Given the description of an element on the screen output the (x, y) to click on. 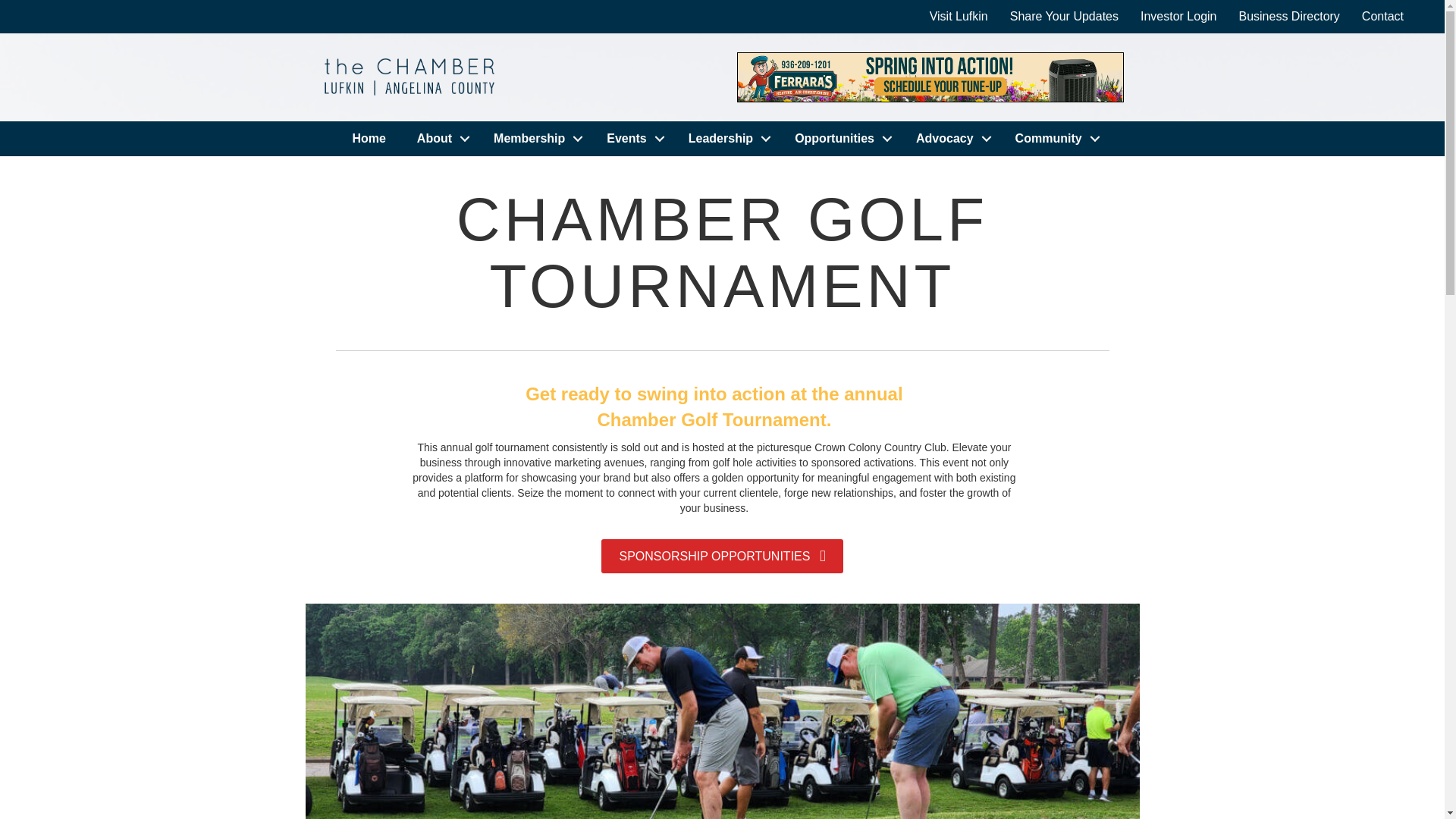
About (439, 137)
Opportunities (838, 137)
Visit Lufkin (958, 16)
Events (631, 137)
Membership (535, 137)
Investor Login (1178, 16)
Leadership (725, 137)
Ferrara's (930, 77)
Business Directory (1288, 16)
Share Your Updates (1063, 16)
Home (368, 137)
Contact (1382, 16)
